Given the description of an element on the screen output the (x, y) to click on. 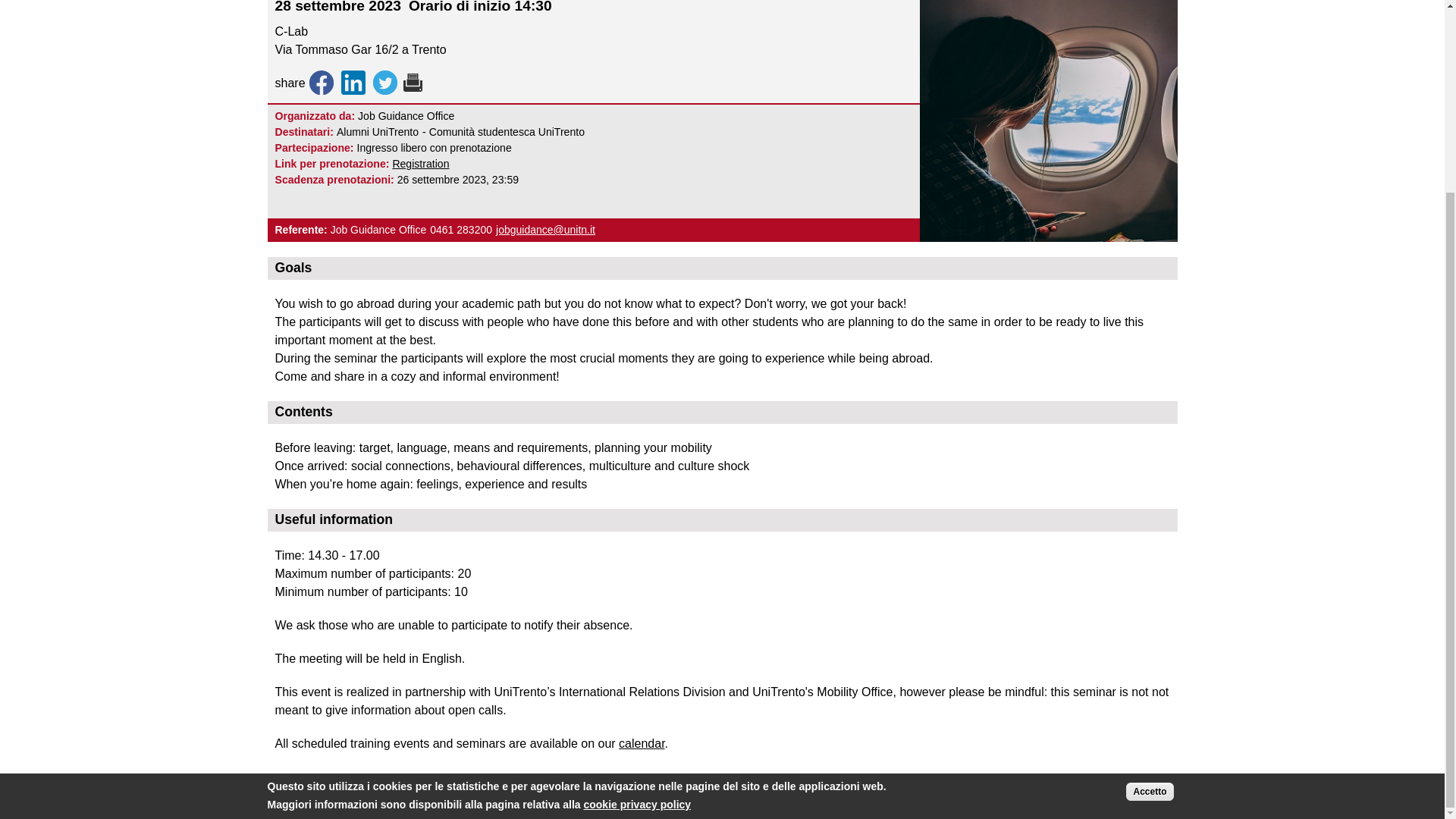
Share to LinkedIn (352, 82)
cookie privacy policy (636, 562)
Display a printer-friendly version of this page. (410, 82)
Twitter (384, 82)
LinkedIn (352, 82)
Accetto (1149, 549)
Share to Twitter (384, 82)
Versione stampabile (412, 82)
Share to Facebook (320, 82)
calendar (641, 743)
